Given the description of an element on the screen output the (x, y) to click on. 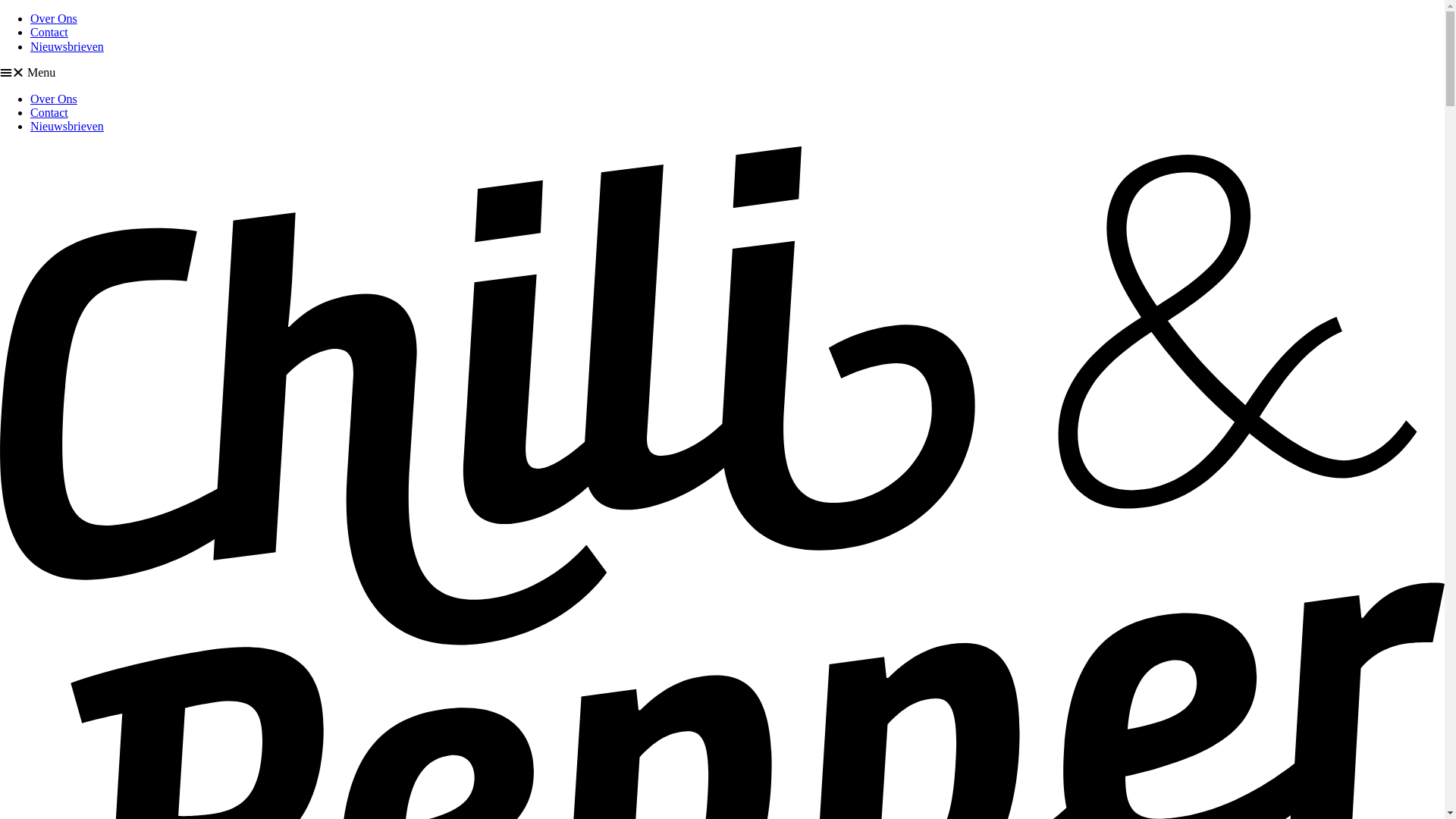
Nieuwsbrieven Element type: text (66, 46)
Nieuwsbrieven Element type: text (66, 125)
Over Ons Element type: text (53, 18)
Contact Element type: text (49, 112)
Over Ons Element type: text (53, 98)
Contact Element type: text (49, 31)
